Given the description of an element on the screen output the (x, y) to click on. 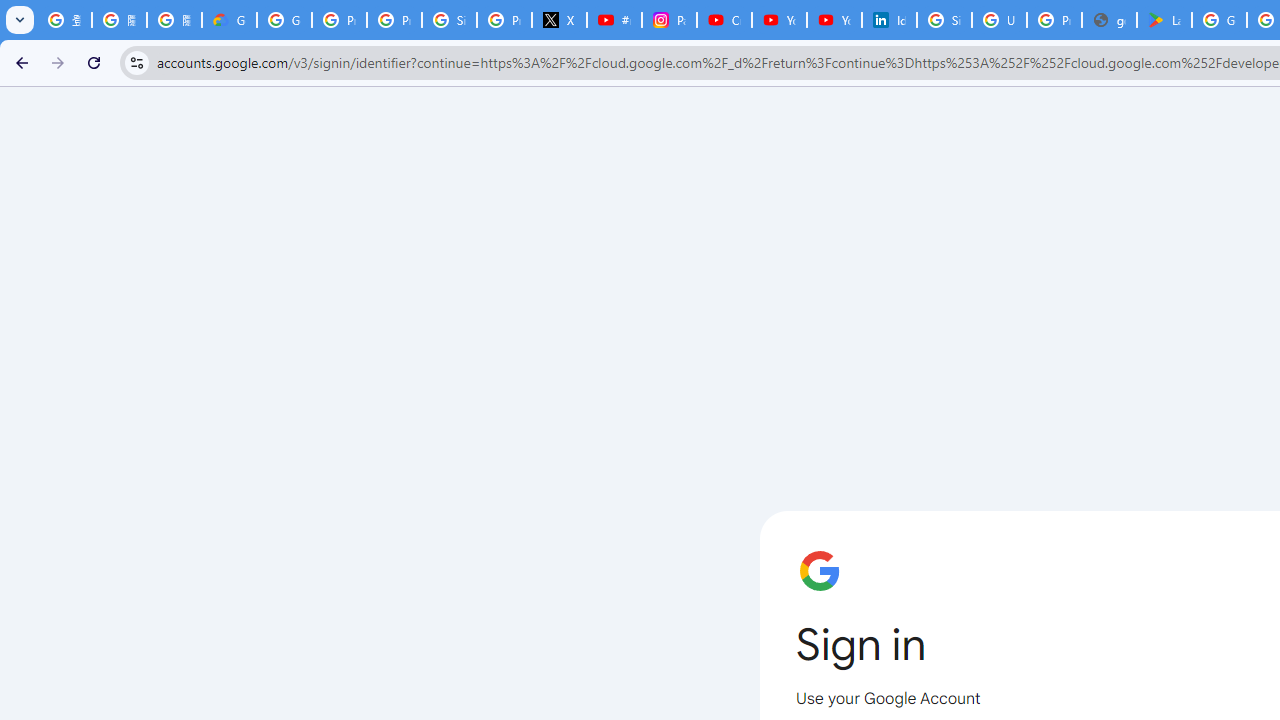
Last Shelter: Survival - Apps on Google Play (1163, 20)
X (559, 20)
Sign in - Google Accounts (943, 20)
